Given the description of an element on the screen output the (x, y) to click on. 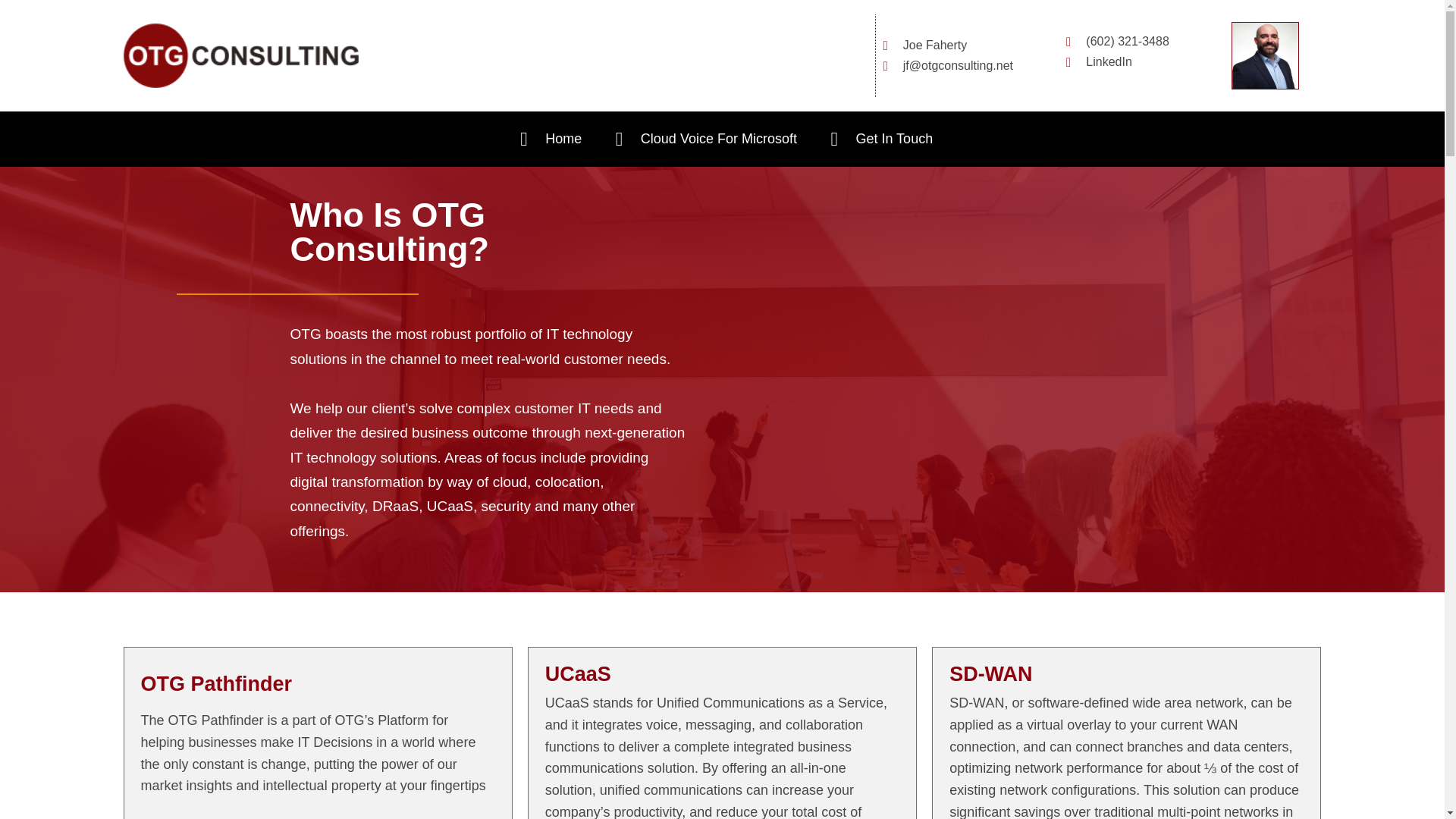
SD-WAN (990, 673)
Cloud Voice For Microsoft (701, 138)
UCaaS (577, 673)
Get In Touch (877, 138)
OTG Pathfinder (216, 683)
LinkedIn (1135, 62)
Home (547, 138)
